Given the description of an element on the screen output the (x, y) to click on. 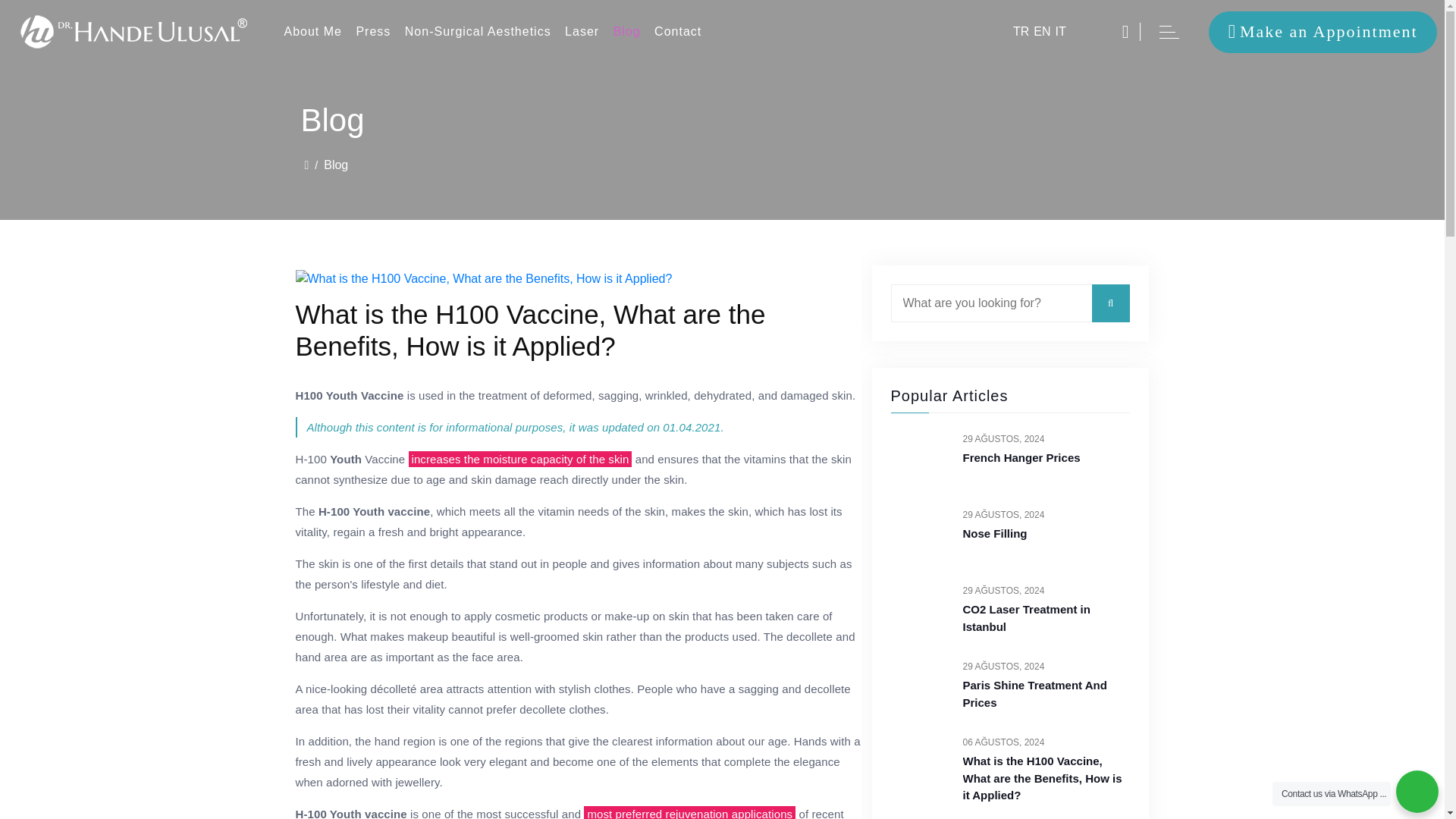
Non-Surgical Aesthetics (477, 31)
About Me (313, 31)
Contact us via WhatsApp ... (1331, 793)
Contact (677, 31)
English (1041, 31)
